Given the description of an element on the screen output the (x, y) to click on. 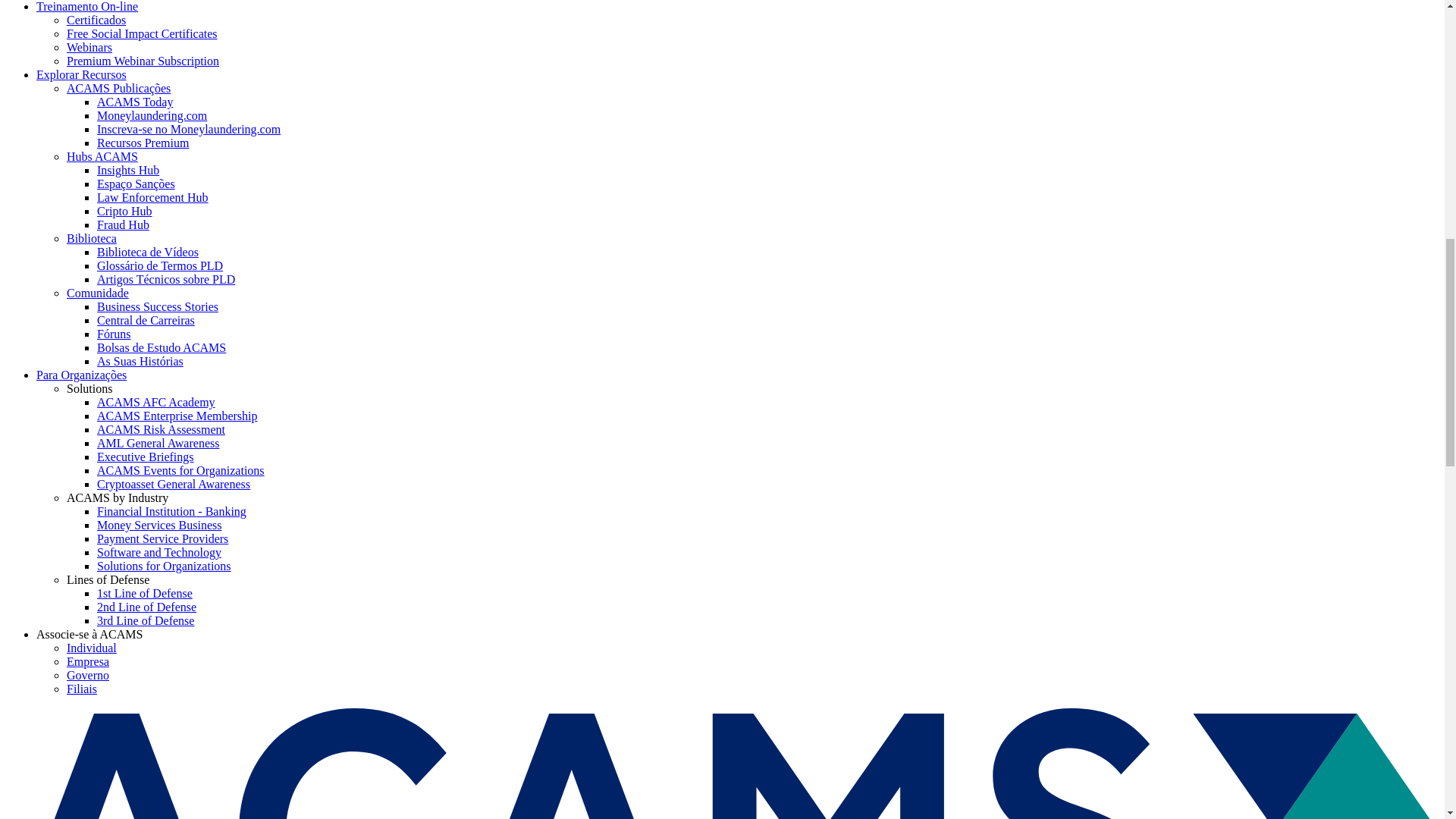
Free Social Impact Certificates (141, 33)
Treinamento On-line (87, 6)
Certificados (95, 19)
Tools to train and track your team's progress (161, 429)
Webinars (89, 47)
